Given the description of an element on the screen output the (x, y) to click on. 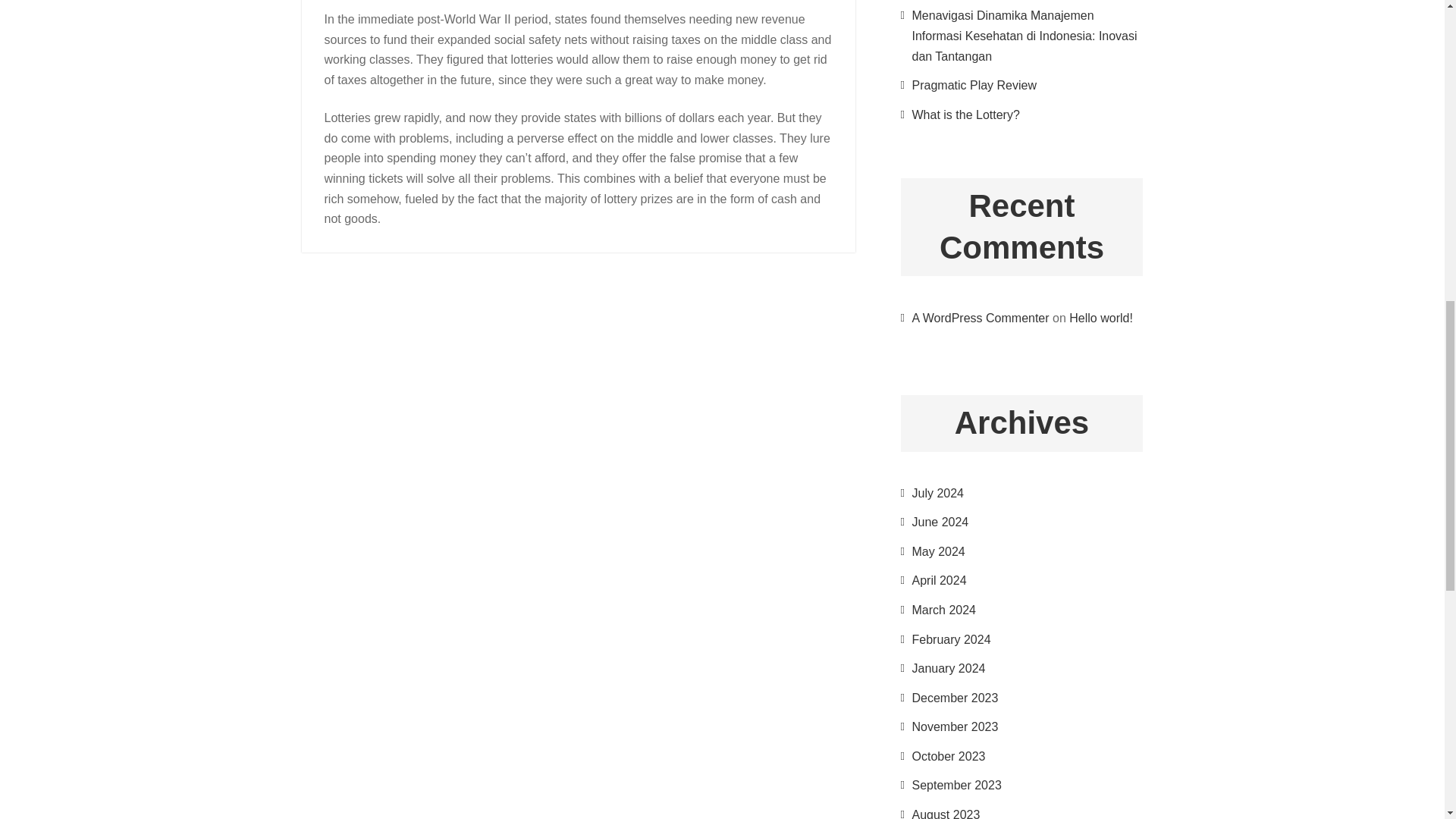
A WordPress Commenter (979, 318)
November 2023 (954, 726)
April 2024 (938, 580)
January 2024 (948, 667)
May 2024 (937, 551)
July 2024 (937, 492)
June 2024 (939, 521)
Pragmatic Play Review (973, 84)
February 2024 (950, 638)
Hello world! (1100, 318)
September 2023 (956, 784)
What is the Lottery? (965, 114)
August 2023 (945, 813)
March 2024 (943, 609)
